Given the description of an element on the screen output the (x, y) to click on. 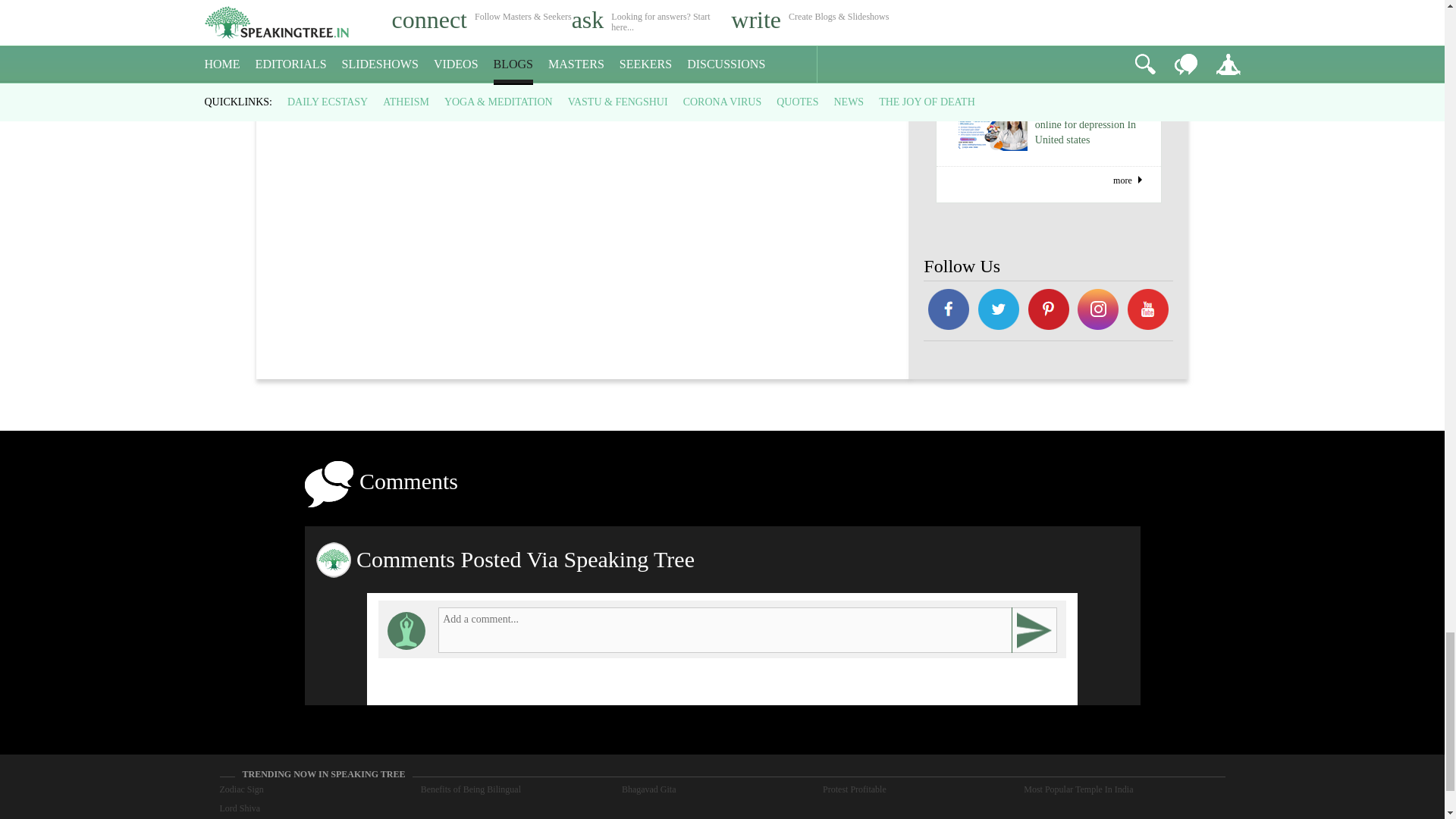
Speaking Tree FaceBook (1099, 311)
Speaking Tree FaceBook (1147, 311)
Speaking Tree FaceBook (1048, 311)
Speaking Tree FaceBook (948, 311)
Speaking Tree FaceBook (998, 311)
